Given the description of an element on the screen output the (x, y) to click on. 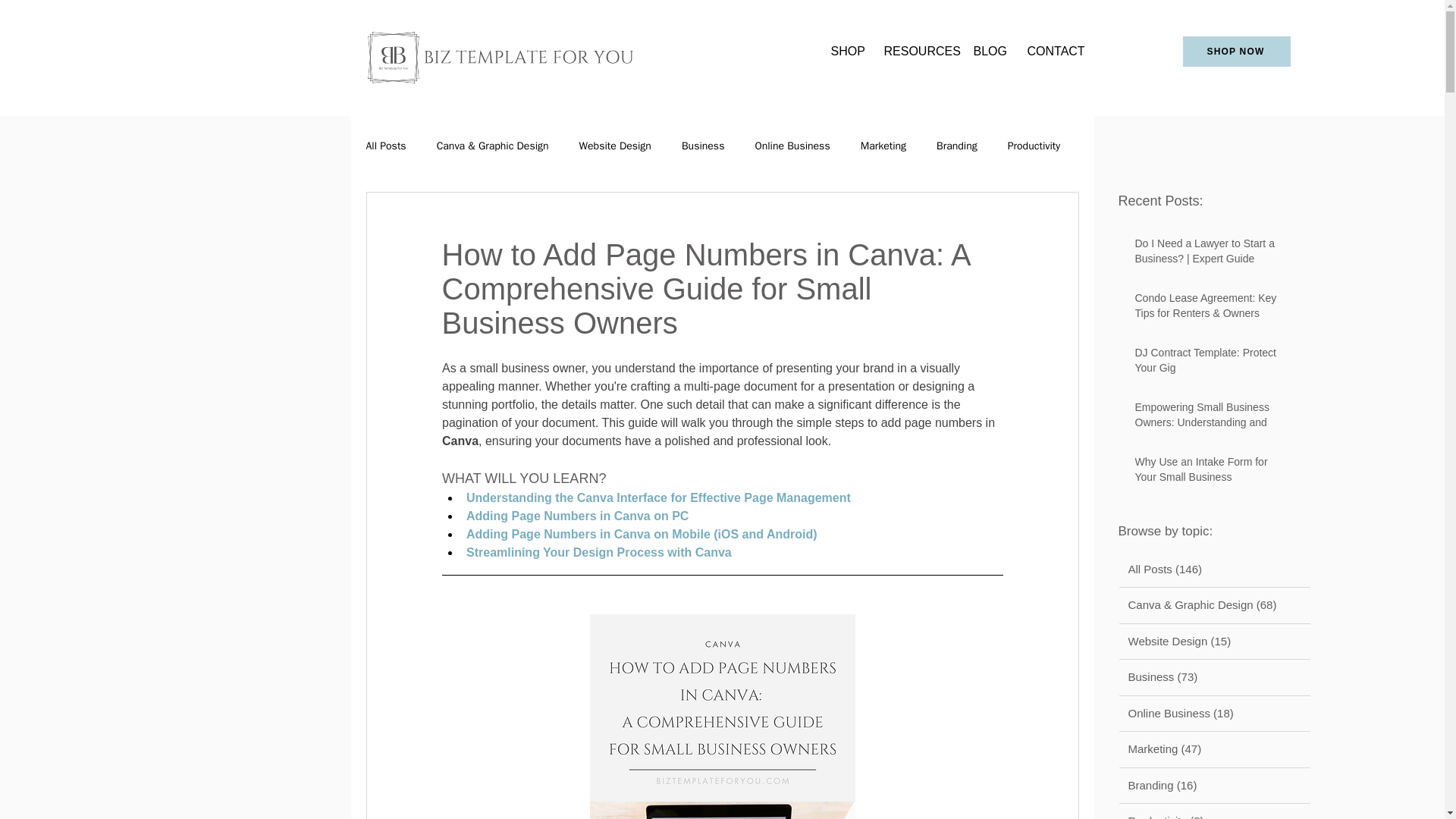
PIN FOR LATER (722, 716)
Adding Page Numbers in Canva on PC (576, 515)
SHOP (845, 51)
RESOURCES (916, 51)
Branding (956, 146)
Marketing (882, 146)
Website Design (614, 146)
SHOP NOW (1236, 51)
Streamlining Your Design Process with Canva (597, 552)
